Given the description of an element on the screen output the (x, y) to click on. 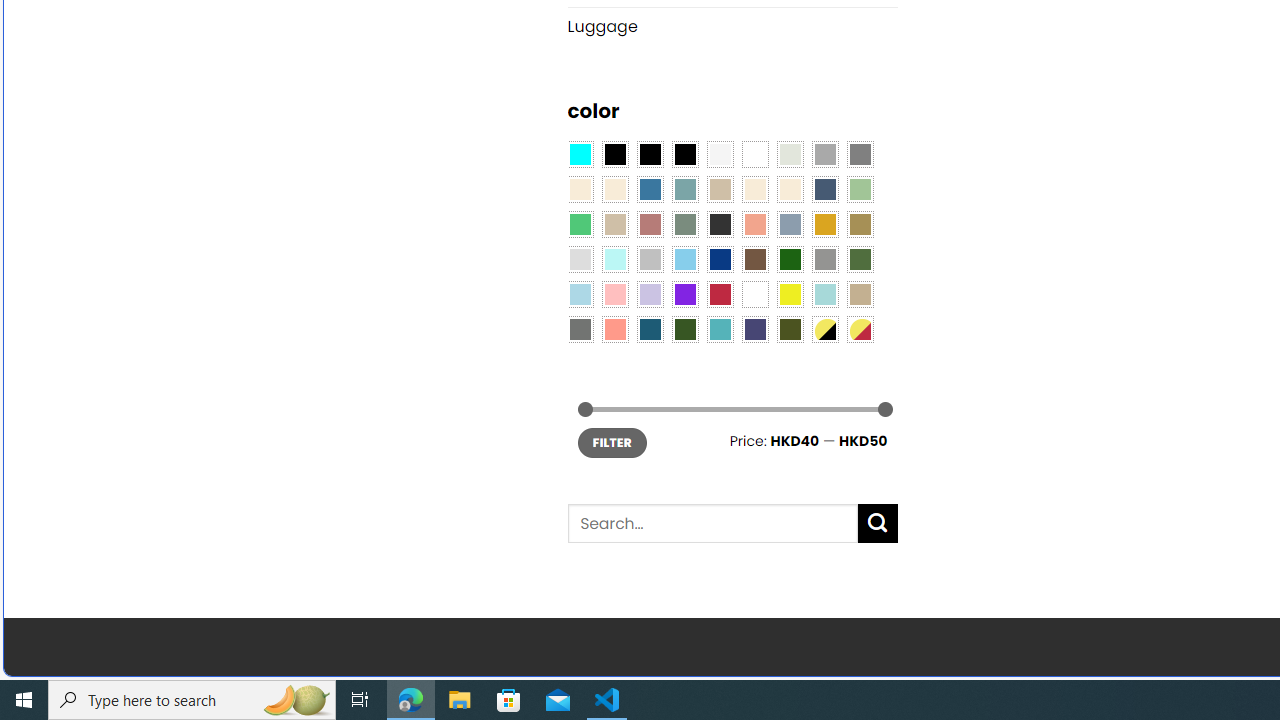
Hale Navy (824, 190)
Sage (684, 224)
Search for: (712, 523)
Black-Brown (684, 154)
Beige (579, 190)
All Gray (859, 154)
Light Purple (650, 295)
Purple Navy (755, 329)
Yellow-Red (859, 329)
Beige-Brown (614, 190)
Capri Blue (650, 329)
Yellow-Black (824, 329)
Luggage (732, 25)
Dark Gray (824, 154)
Khaki (859, 295)
